Given the description of an element on the screen output the (x, y) to click on. 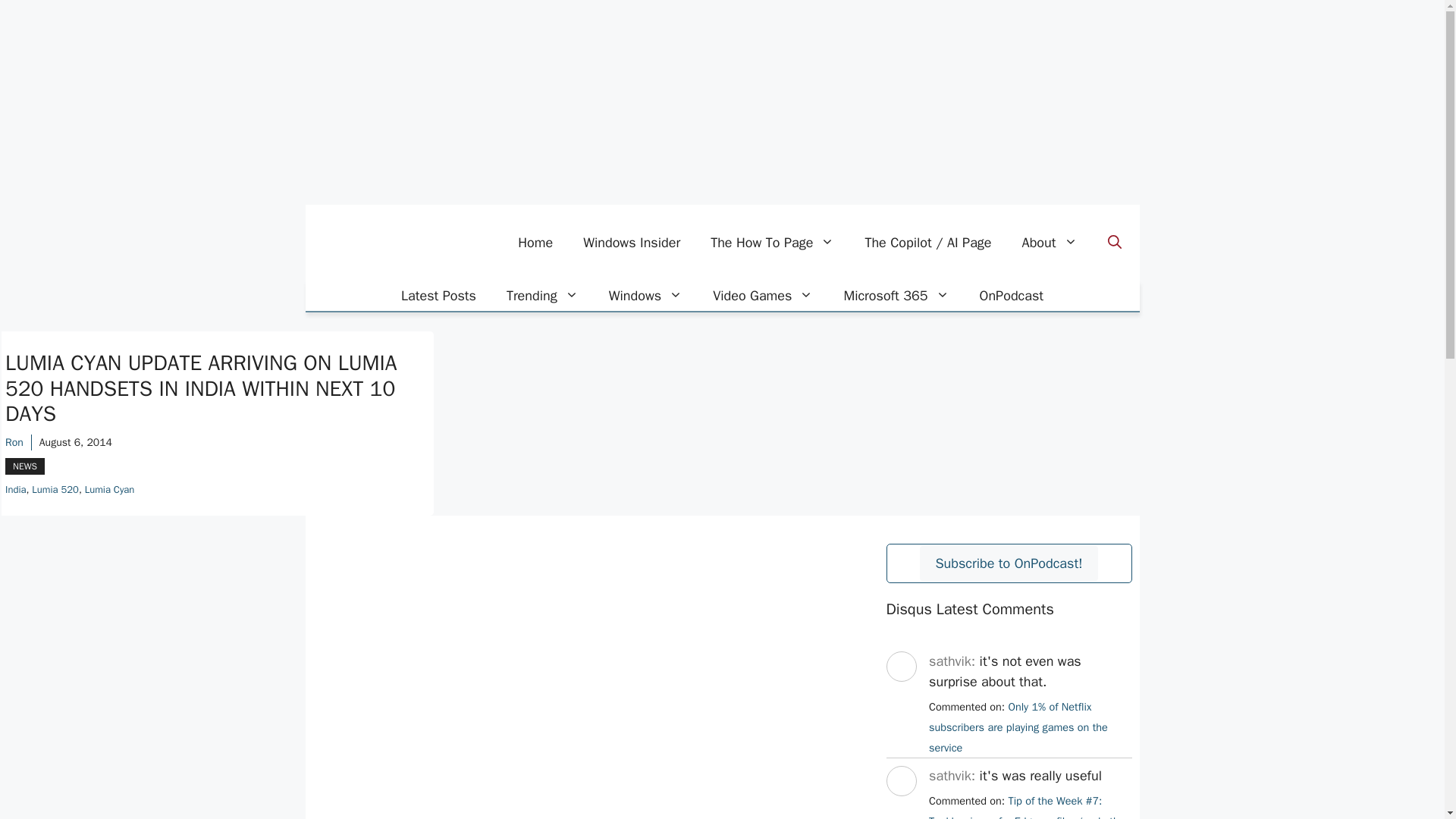
July 11, 2024 (1018, 727)
sathvik (900, 809)
Home (534, 242)
The How To Page (771, 242)
About (1050, 242)
Windows Insider (631, 242)
Trending (543, 295)
Latest Posts (438, 295)
sathvik (900, 695)
July 8, 2024 (1028, 806)
Video Games (762, 295)
Windows (645, 295)
